Given the description of an element on the screen output the (x, y) to click on. 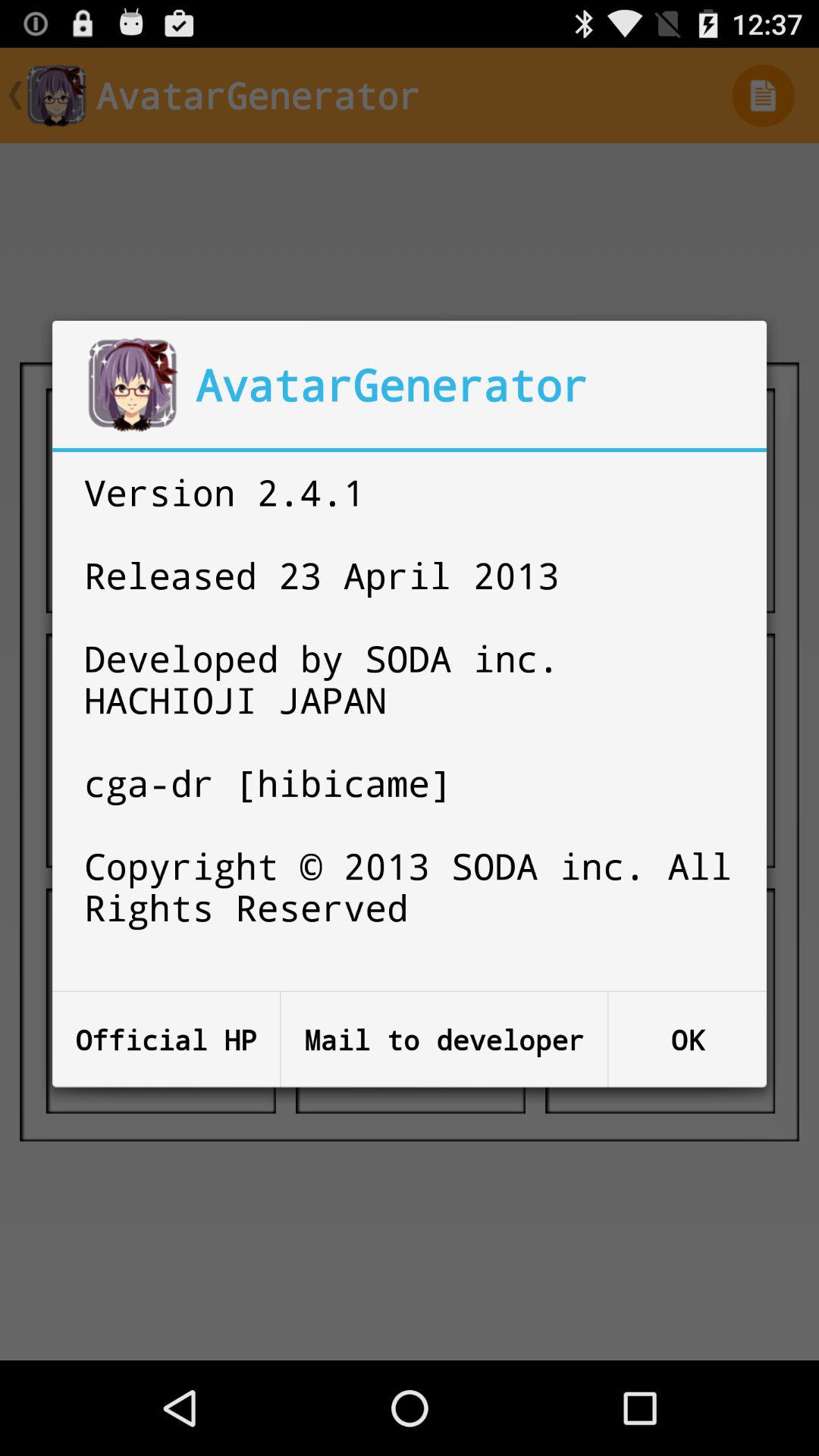
turn off the mail to developer button (443, 1039)
